Given the description of an element on the screen output the (x, y) to click on. 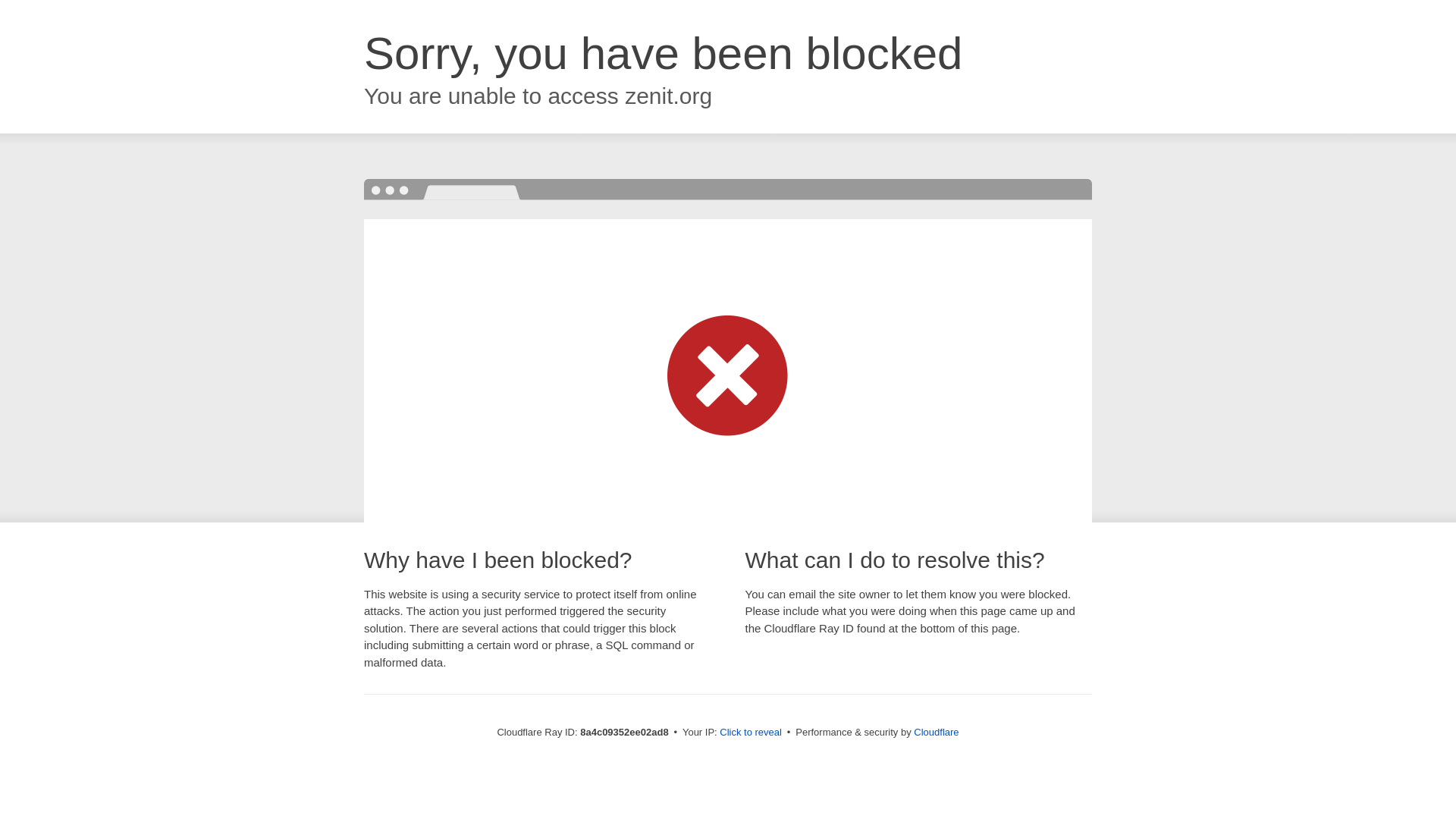
Click to reveal (750, 732)
Cloudflare (936, 731)
